Given the description of an element on the screen output the (x, y) to click on. 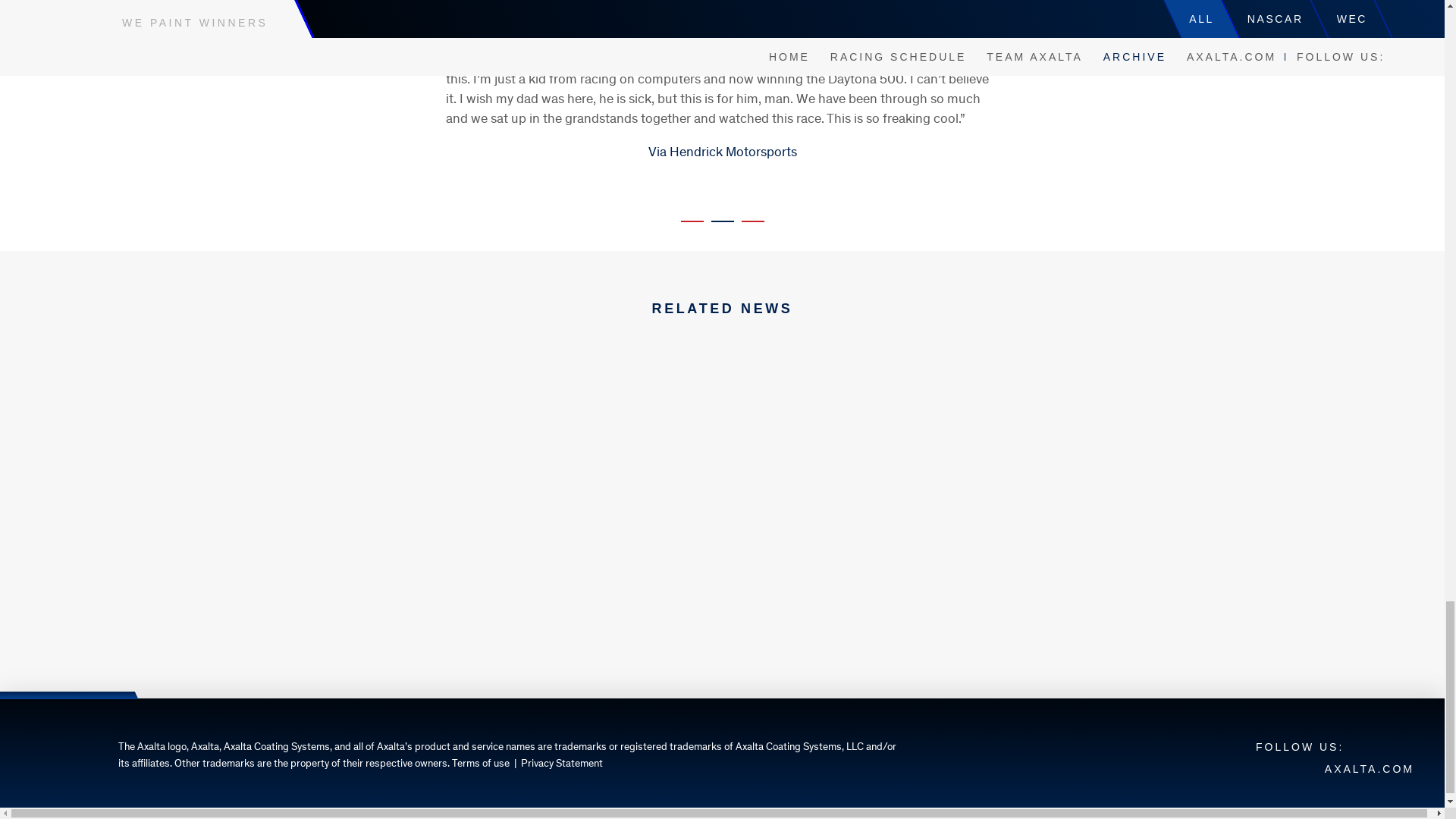
AXALTA.COM (1368, 768)
Via Hendrick Motorsports (721, 152)
Privacy Statement (561, 764)
Terms of use (480, 764)
